Given the description of an element on the screen output the (x, y) to click on. 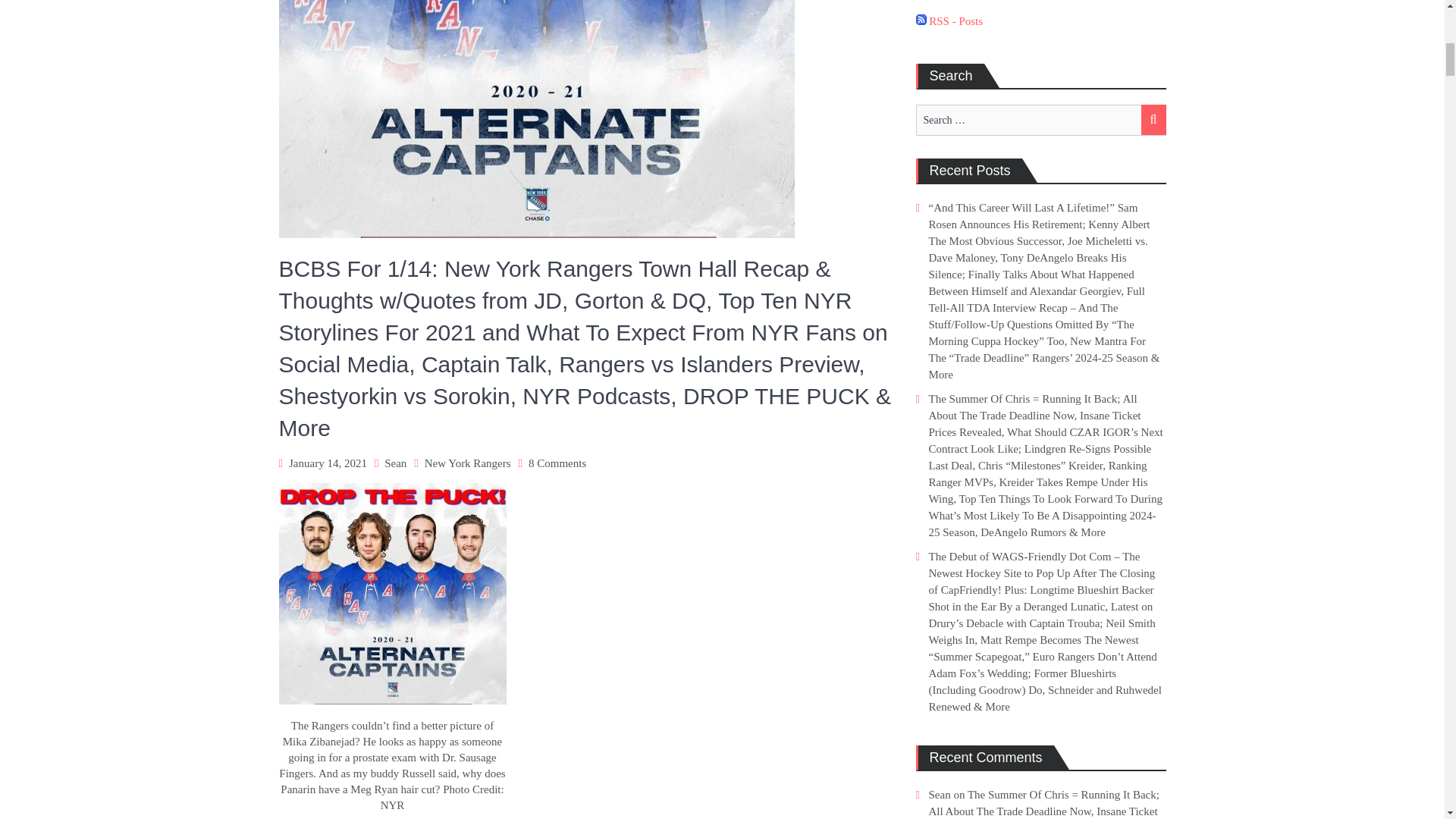
Subscribe to posts (949, 21)
Sean (395, 463)
New York Rangers (468, 463)
January 14, 2021 (327, 463)
